Given the description of an element on the screen output the (x, y) to click on. 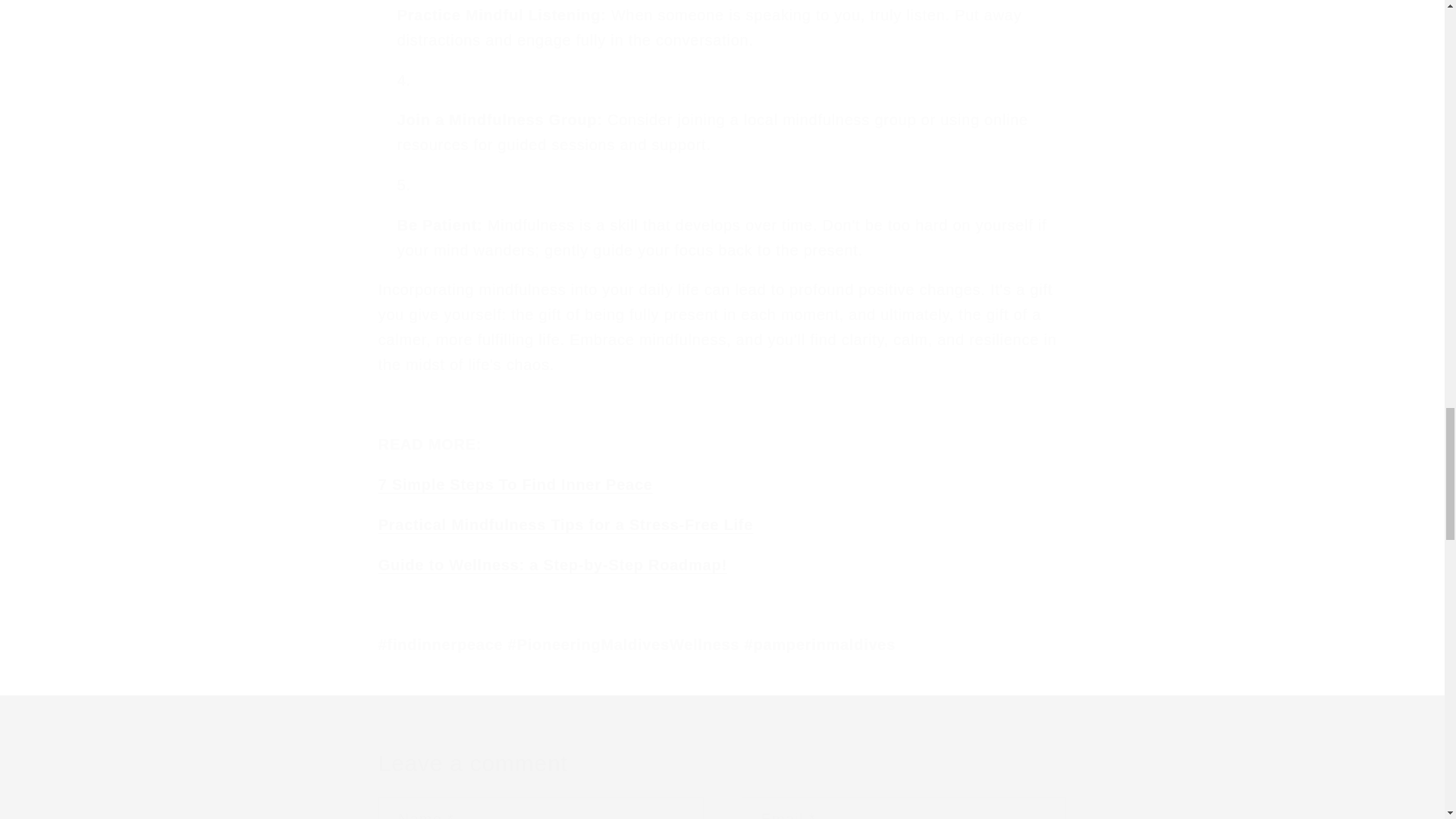
destress (565, 524)
wellness and inner peace (552, 564)
find peace of mind (515, 484)
